Given the description of an element on the screen output the (x, y) to click on. 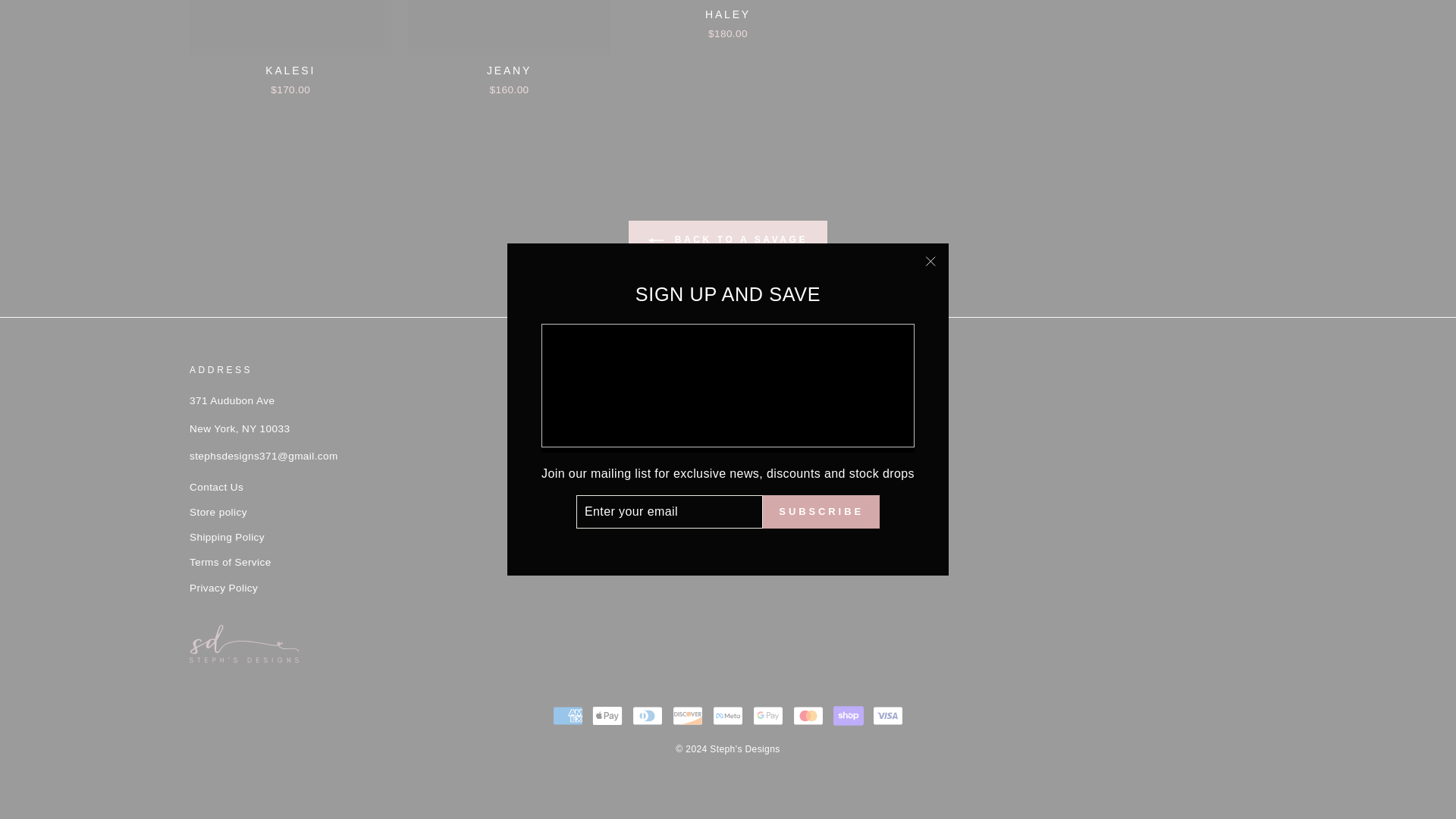
Visa (887, 716)
Google Pay (767, 716)
Meta Pay (727, 716)
American Express (568, 716)
Shop Pay (847, 716)
Diners Club (646, 716)
Apple Pay (607, 716)
Discover (687, 716)
Mastercard (808, 716)
